Given the description of an element on the screen output the (x, y) to click on. 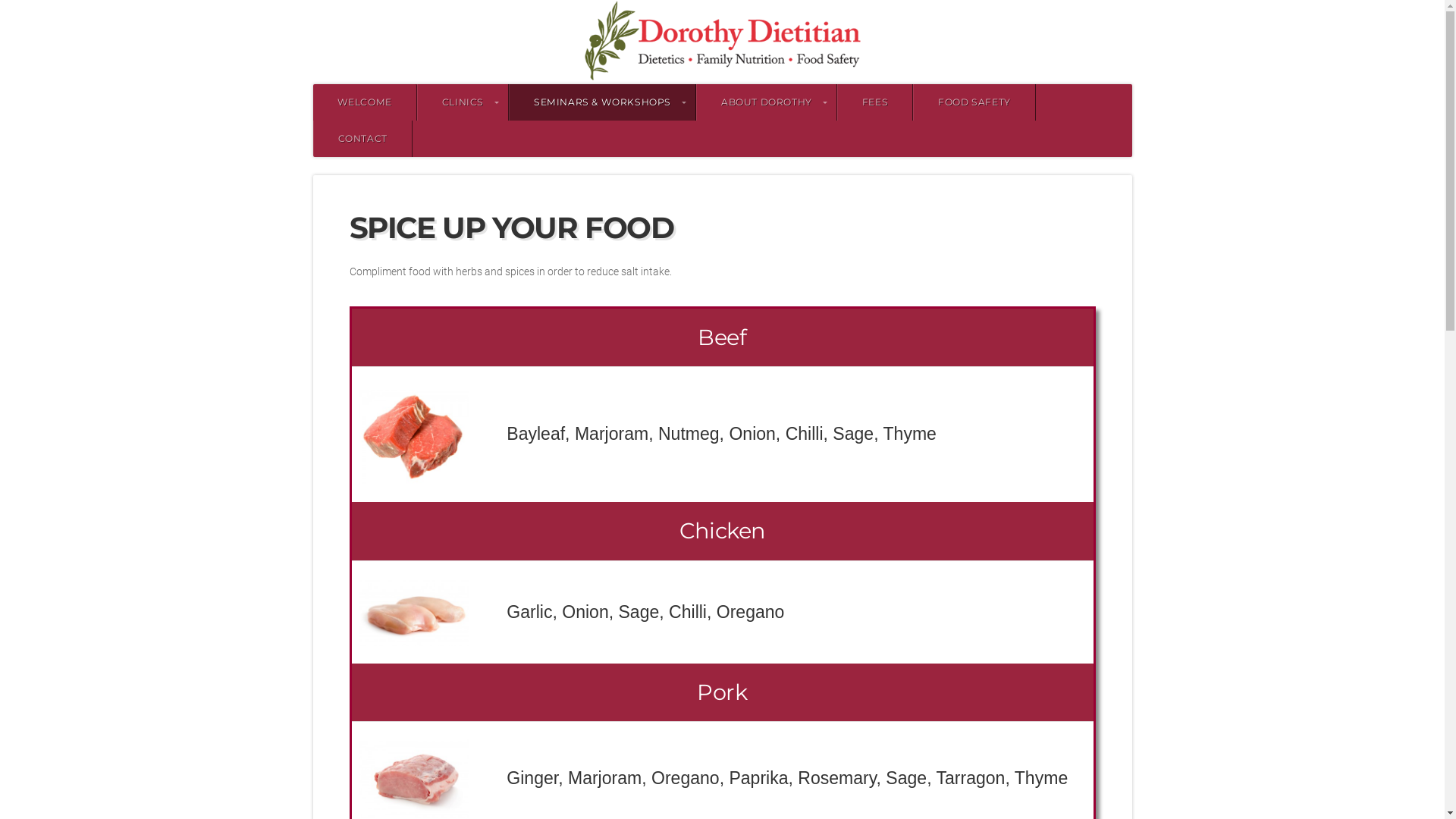
CLINICS Element type: text (462, 102)
WELCOME Element type: text (364, 102)
CONTACT Element type: text (361, 138)
FOOD SAFETY Element type: text (974, 102)
SEMINARS & WORKSHOPS Element type: text (602, 102)
FEES Element type: text (875, 102)
ABOUT DOROTHY Element type: text (766, 102)
